Given the description of an element on the screen output the (x, y) to click on. 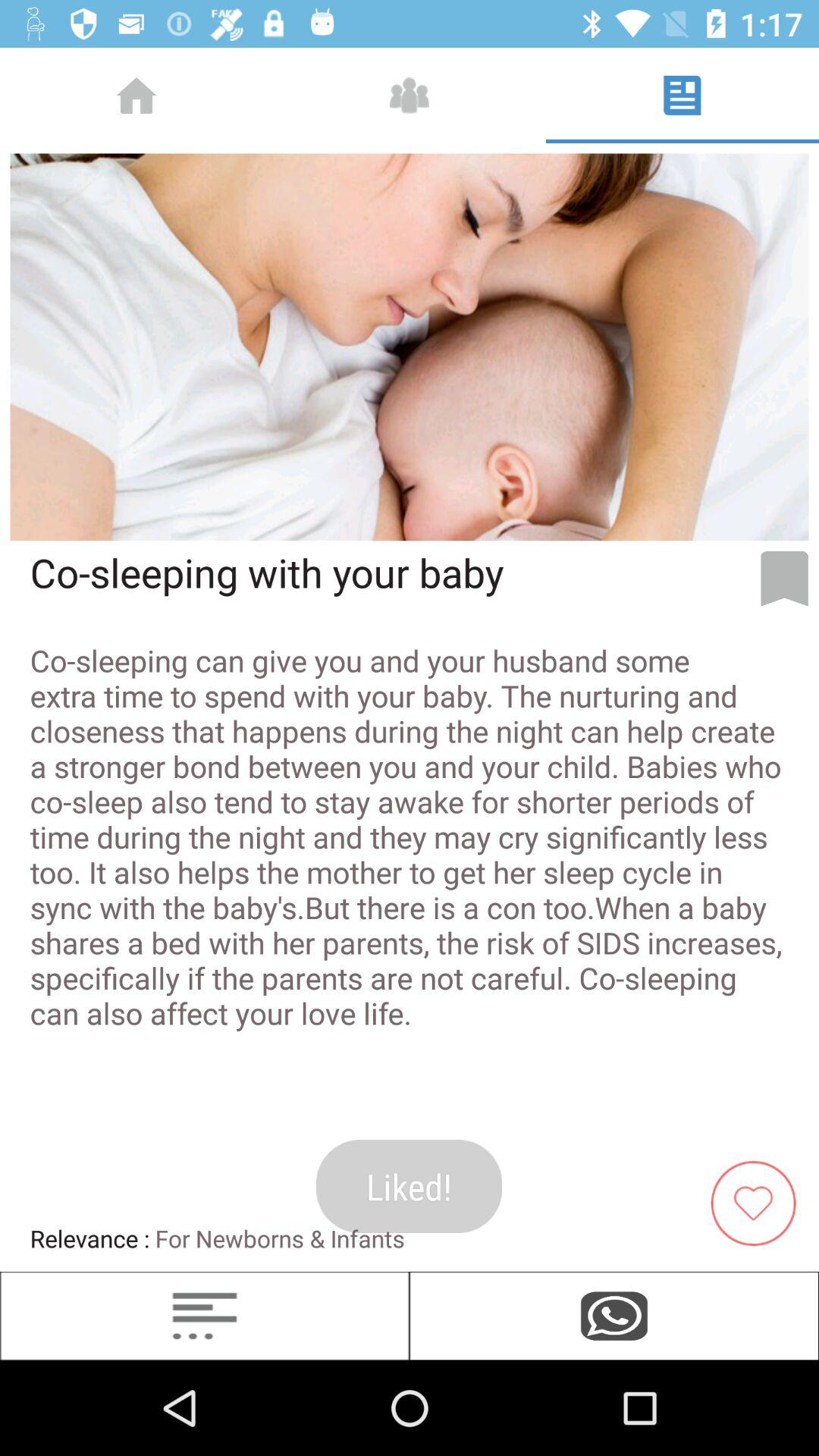
bookmark (784, 578)
